Given the description of an element on the screen output the (x, y) to click on. 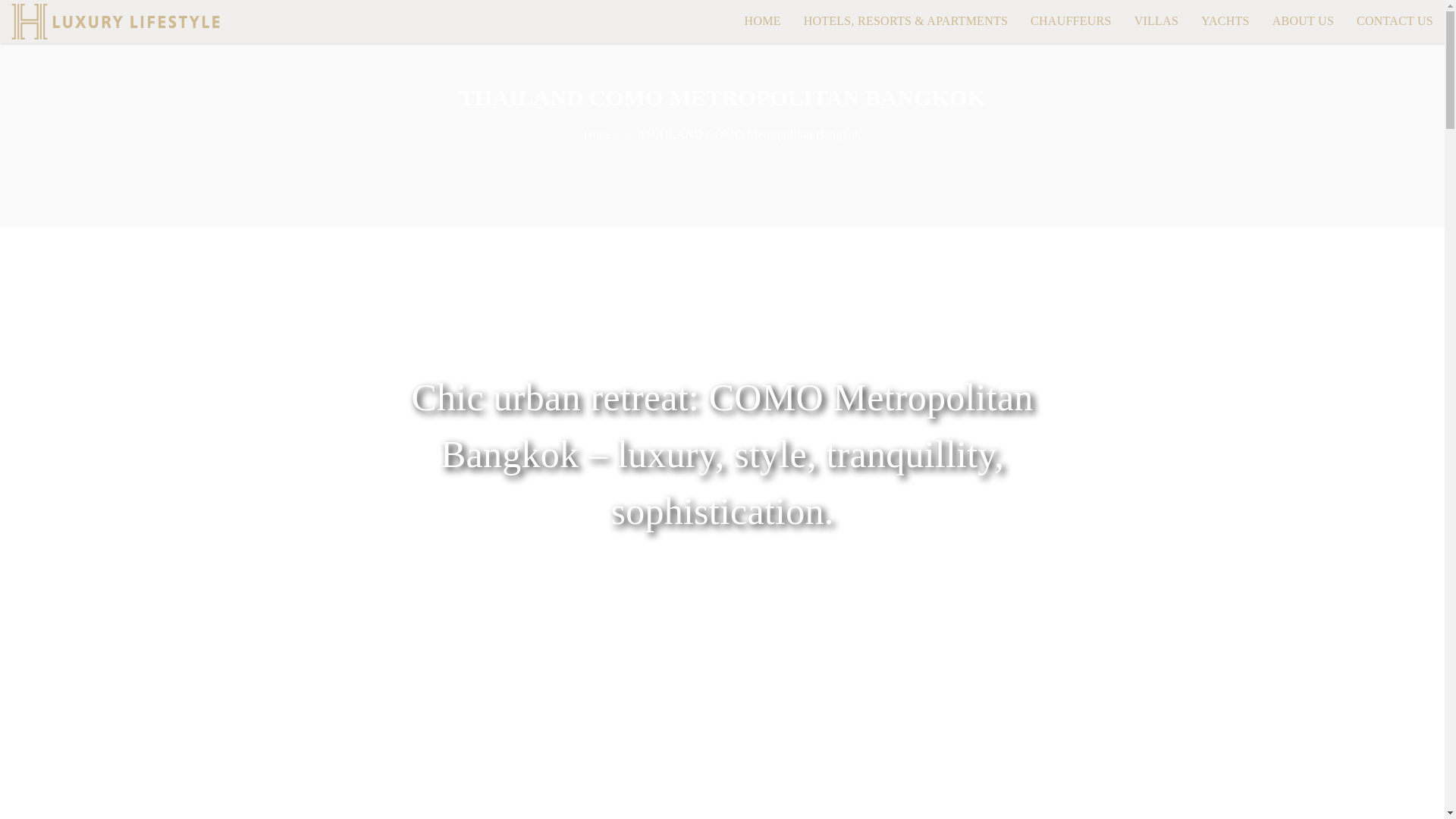
HOME (762, 21)
CONTACT US (1394, 21)
Home (598, 134)
YACHTS (1225, 21)
CHAUFFEURS (1071, 21)
VILLAS (1155, 21)
H Luxury Lifestyle (115, 21)
ABOUT US (1302, 21)
